Given the description of an element on the screen output the (x, y) to click on. 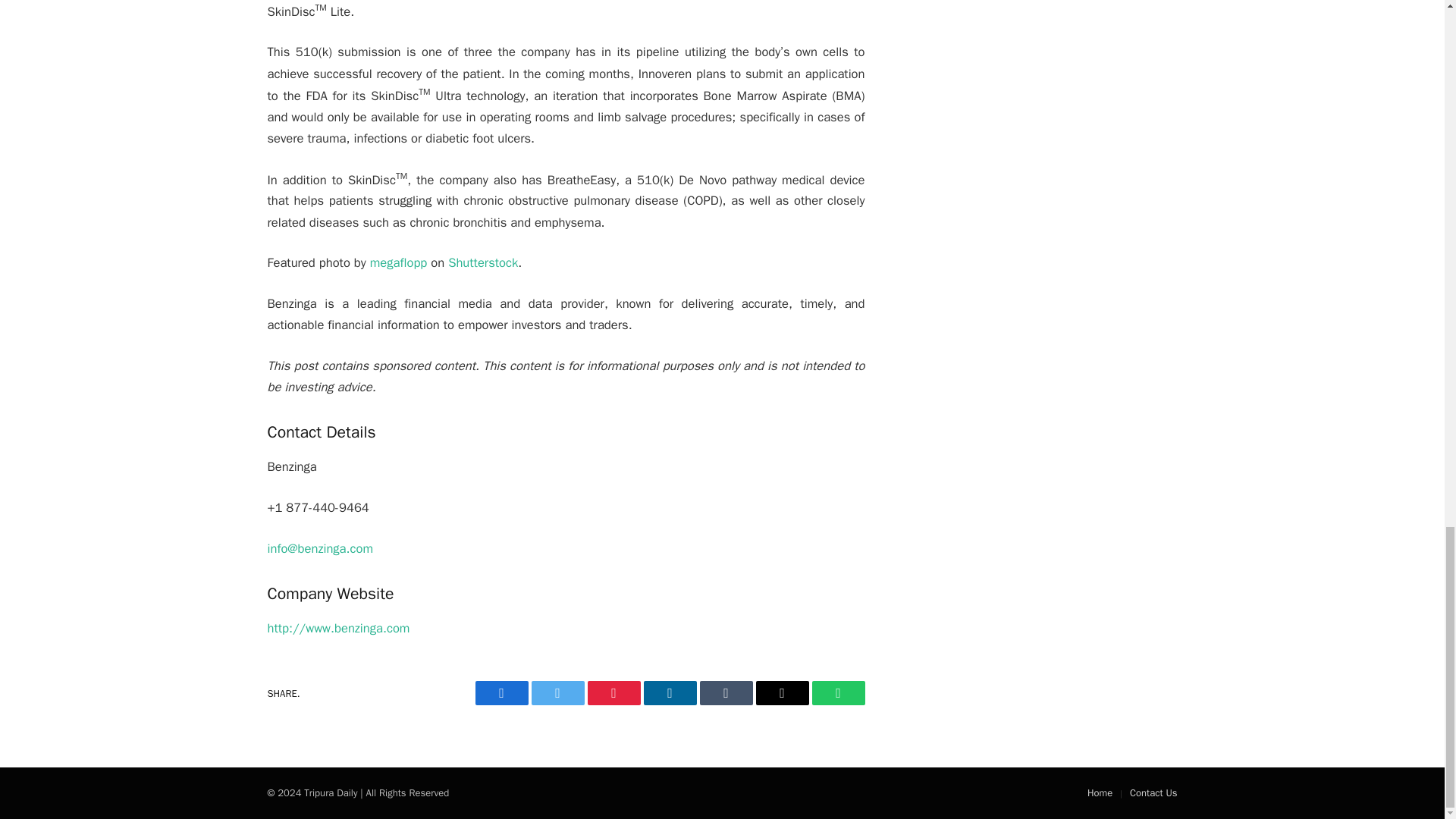
Share on Pinterest (613, 692)
Share on Facebook (500, 692)
